Given the description of an element on the screen output the (x, y) to click on. 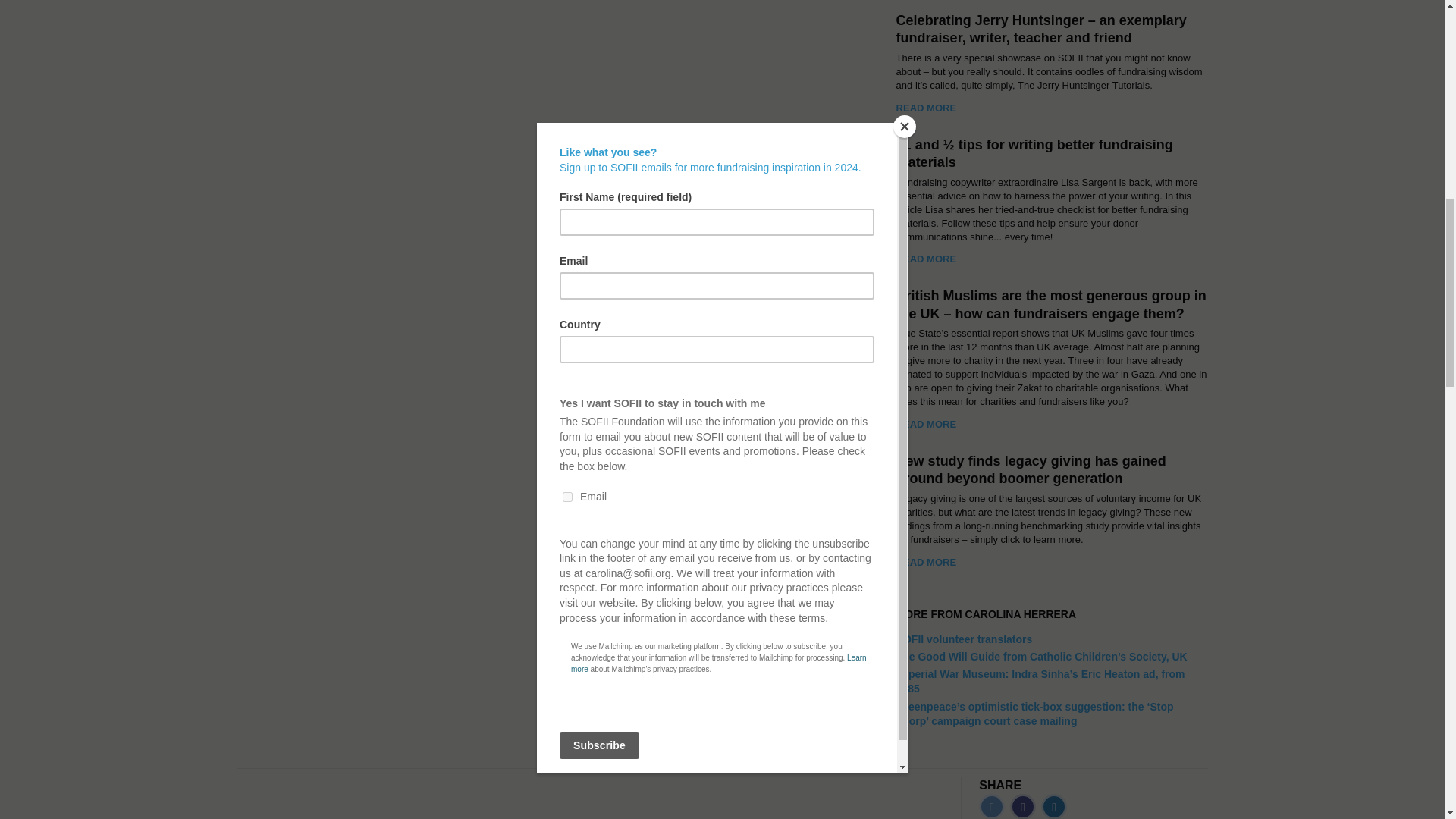
Share on LinkedIn (1054, 806)
Share on Facebook (1022, 806)
Share on Twitter (991, 806)
